Given the description of an element on the screen output the (x, y) to click on. 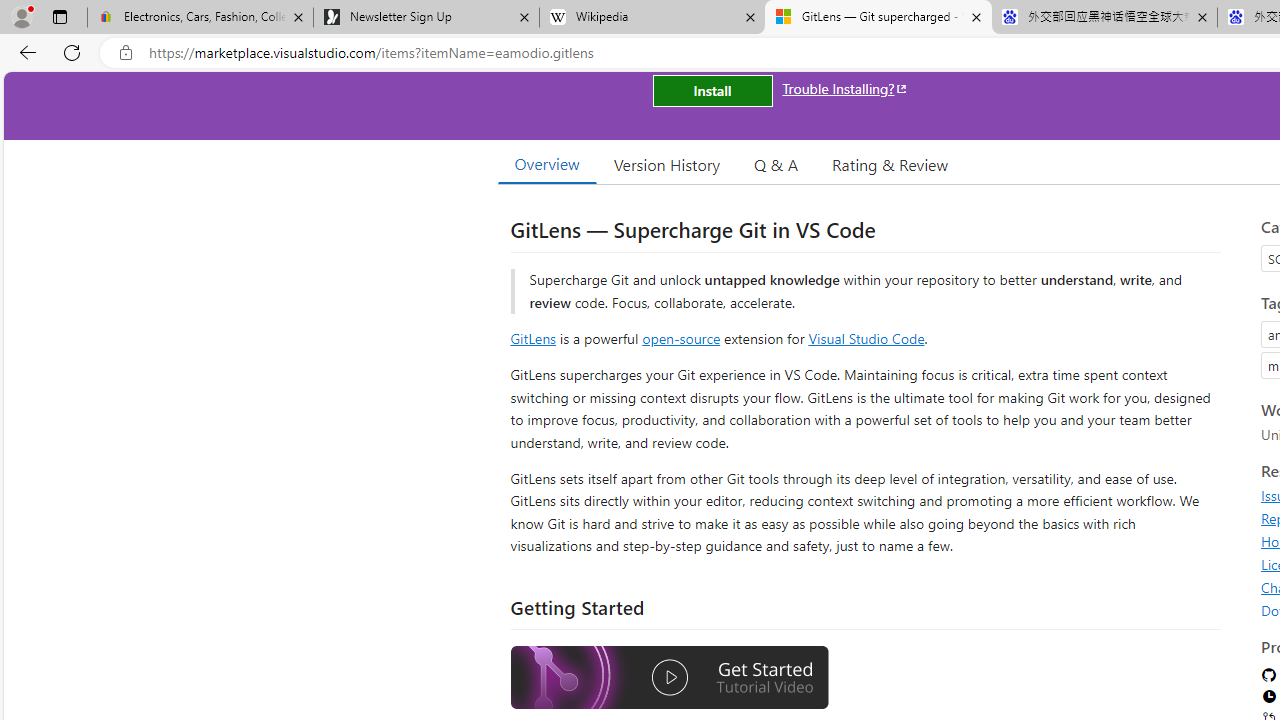
GitLens (532, 337)
Version History (667, 164)
Watch the GitLens Getting Started video (669, 679)
Install (712, 90)
Rating & Review (890, 164)
Watch the GitLens Getting Started video (669, 678)
Newsletter Sign Up (425, 17)
Q & A (776, 164)
